Given the description of an element on the screen output the (x, y) to click on. 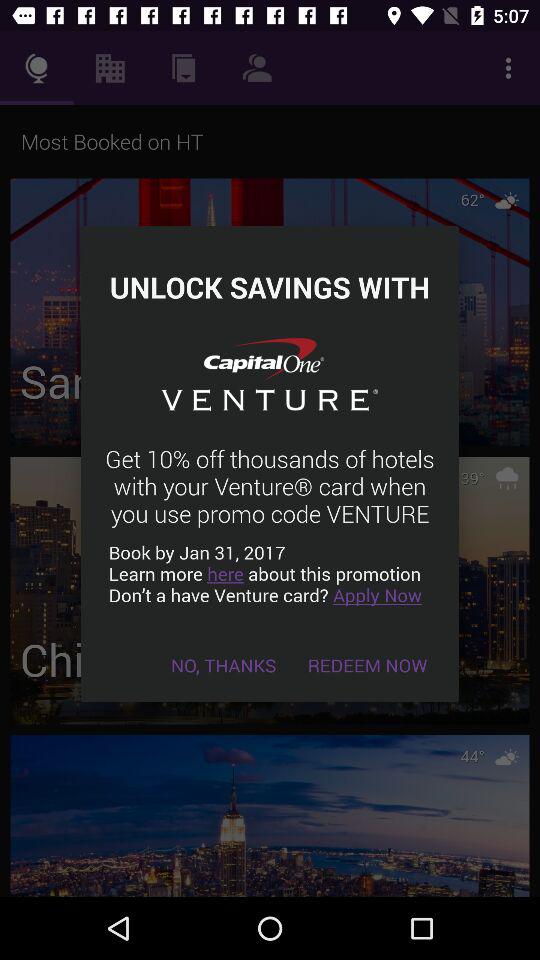
press item to the right of no, thanks icon (367, 664)
